Given the description of an element on the screen output the (x, y) to click on. 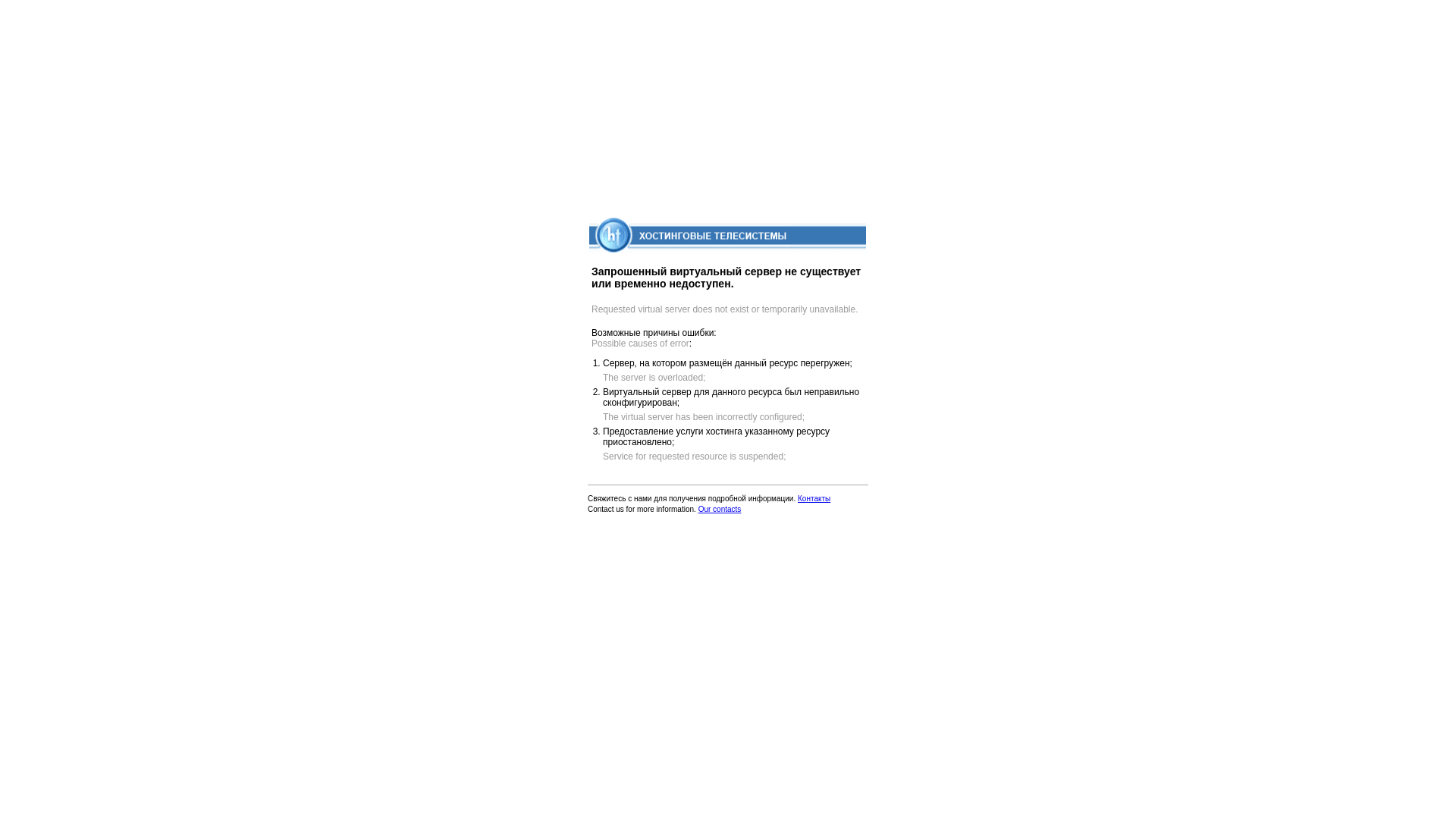
Our contacts Element type: text (719, 509)
